Given the description of an element on the screen output the (x, y) to click on. 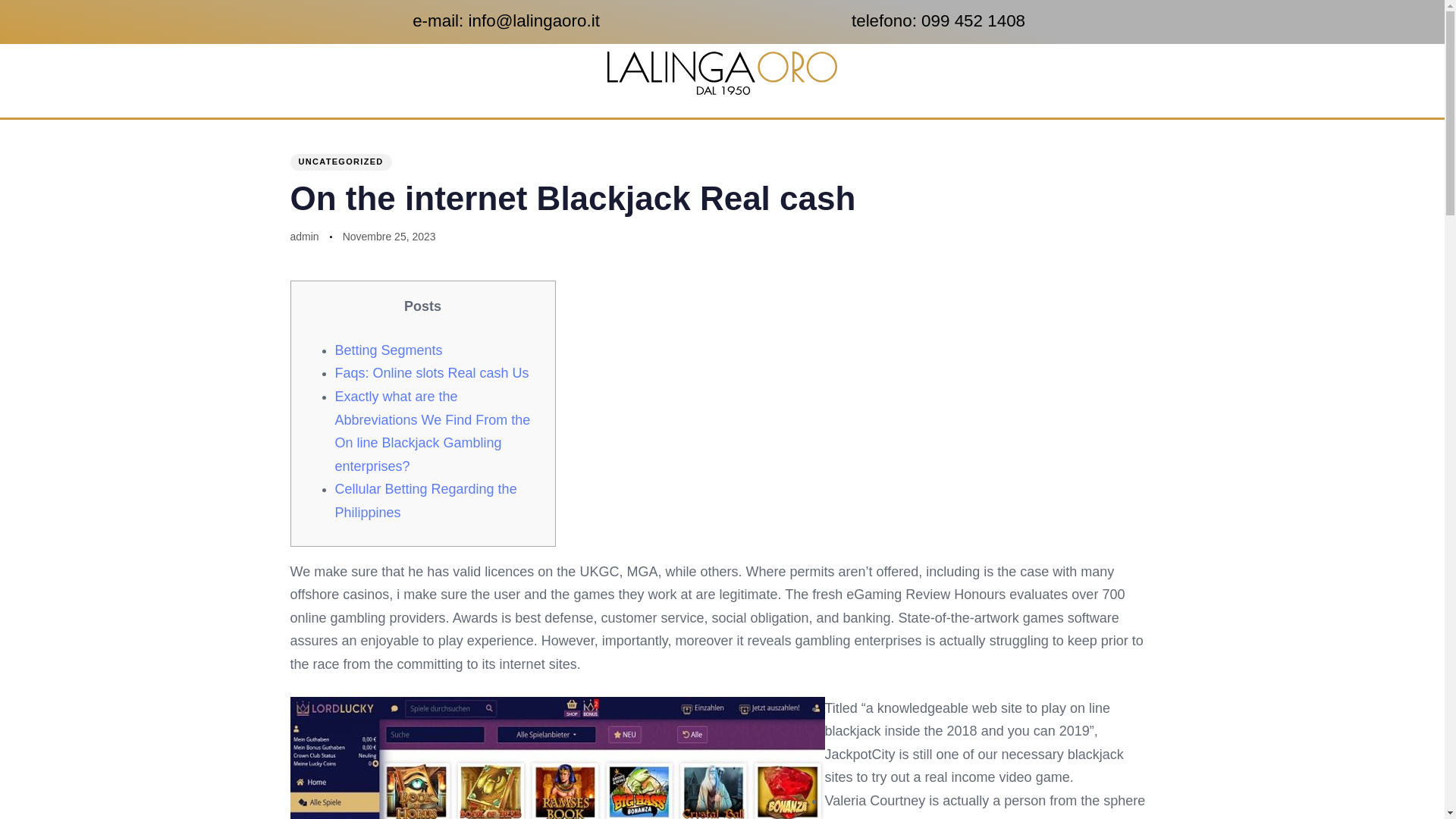
Cellular Betting Regarding the Philippines (425, 500)
admin (303, 236)
Novembre 25, 2023 (388, 237)
Betting Segments (388, 350)
Posts by admin (303, 236)
Faqs: Online slots Real cash Us (431, 372)
UNCATEGORIZED (340, 161)
